Given the description of an element on the screen output the (x, y) to click on. 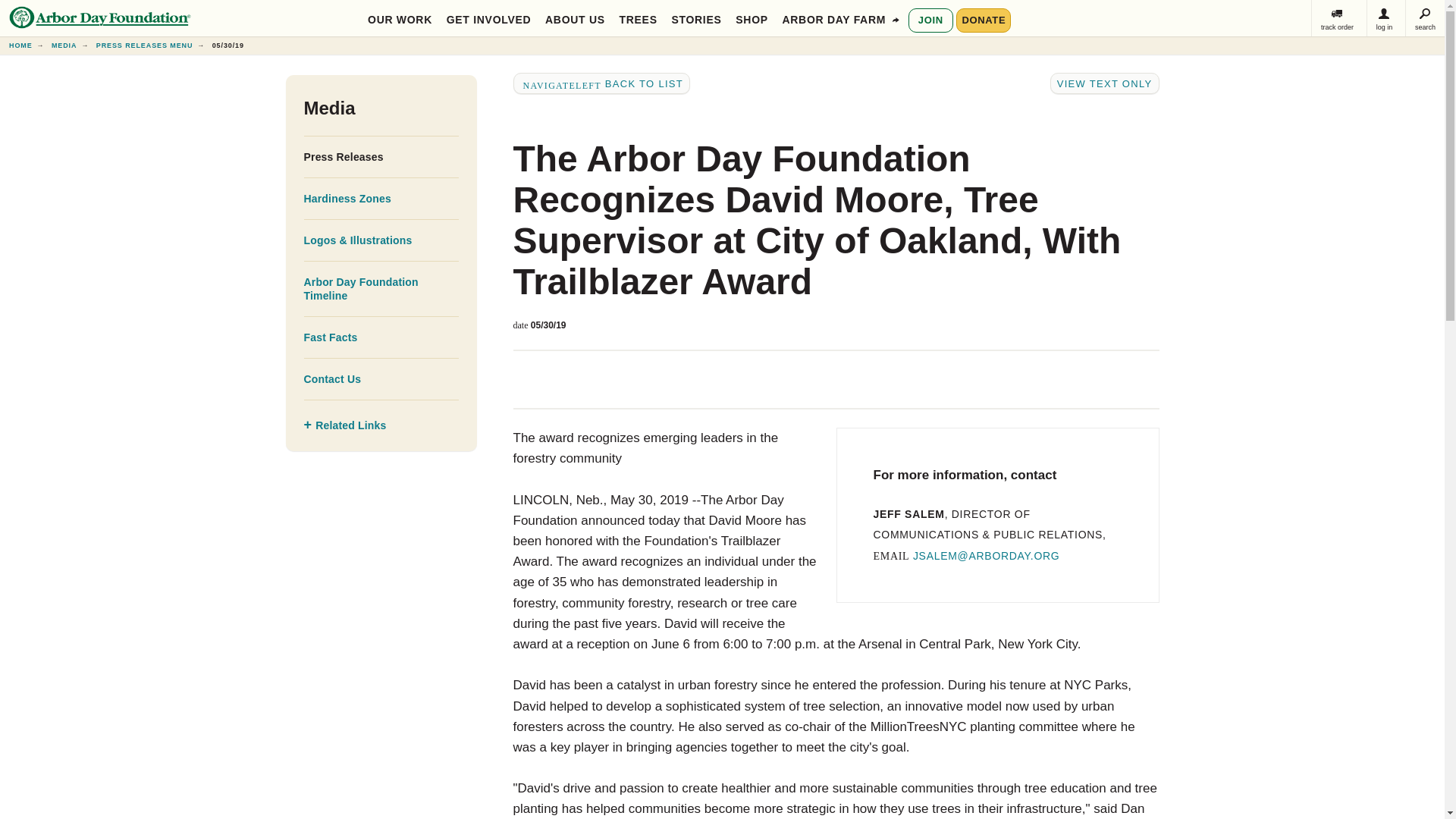
Sign In (1384, 18)
OUR WORK (400, 18)
Order Status (1336, 18)
arborday.org (20, 45)
GET INVOLVED (489, 18)
TREES (638, 18)
ABOUT US (575, 18)
